Given the description of an element on the screen output the (x, y) to click on. 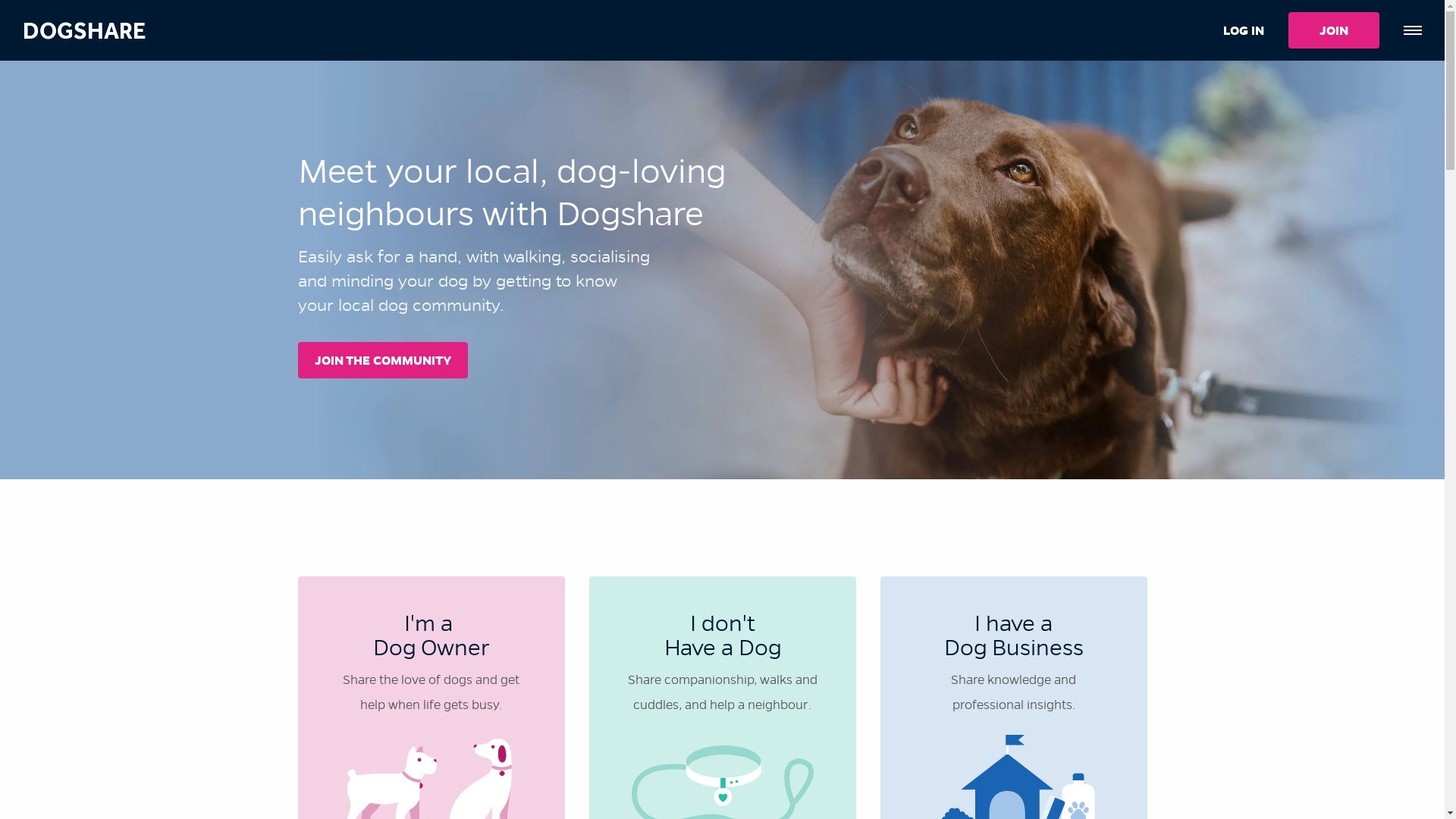
JOIN THE COMMUNITY Element type: text (382, 360)
JOIN Element type: text (1333, 30)
LOG IN Element type: text (1243, 30)
DOGSHARE Element type: text (83, 30)
